Given the description of an element on the screen output the (x, y) to click on. 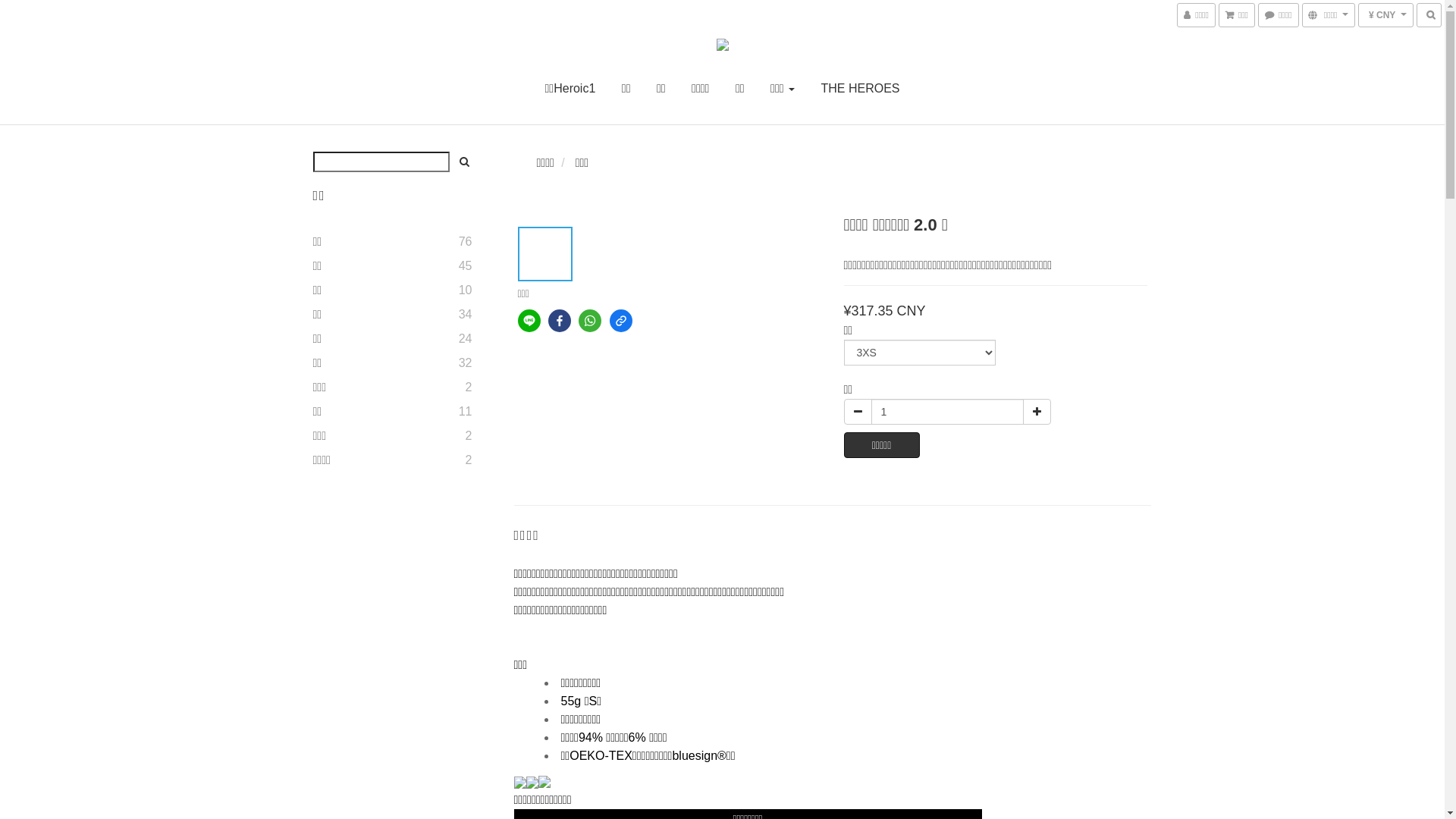
copy link Element type: hover (620, 320)
whatsapp Element type: hover (589, 320)
THE HEROES Element type: text (859, 87)
line Element type: hover (528, 320)
facebook Element type: hover (559, 320)
